Given the description of an element on the screen output the (x, y) to click on. 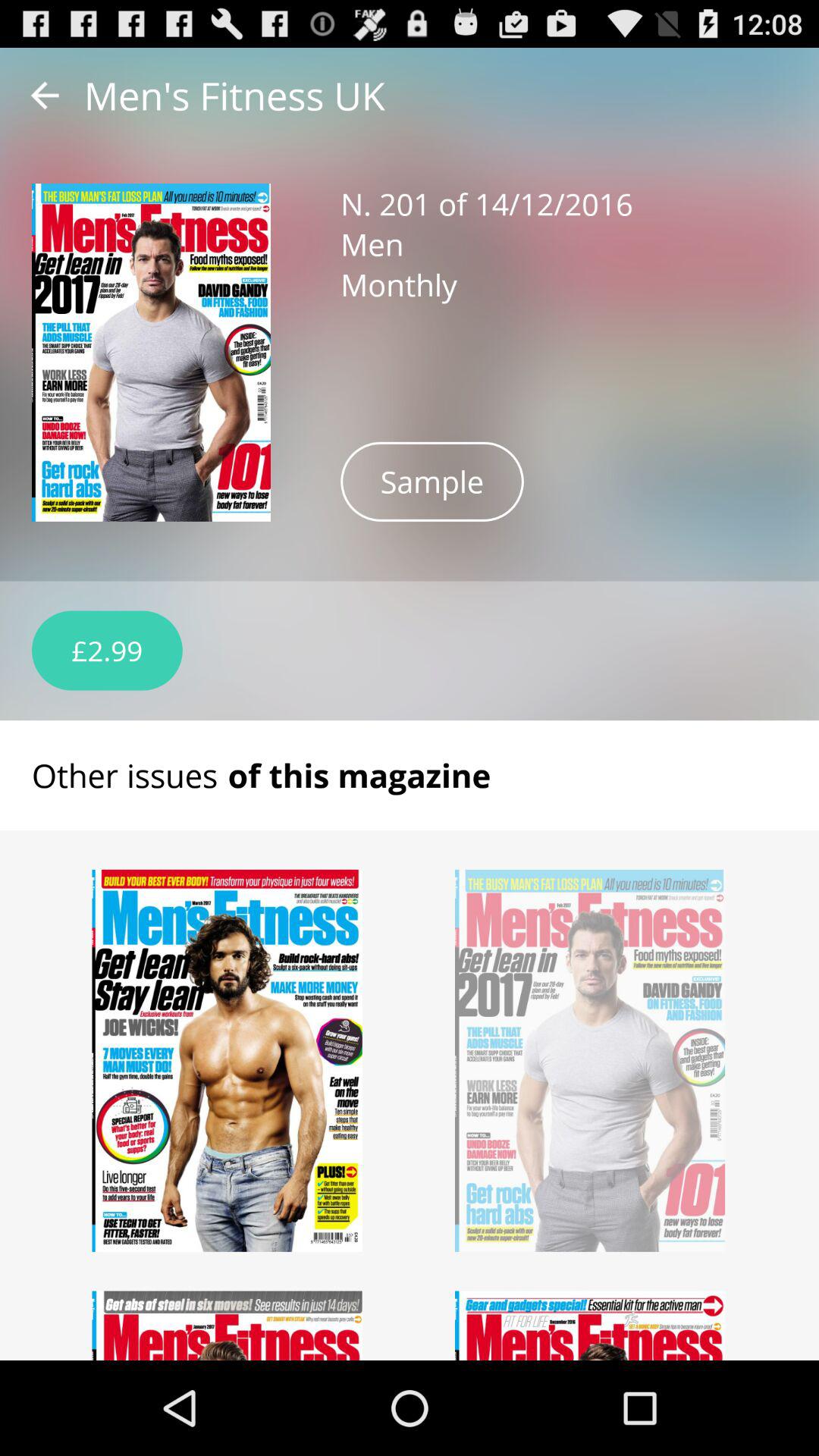
tap for different issue (227, 1325)
